Given the description of an element on the screen output the (x, y) to click on. 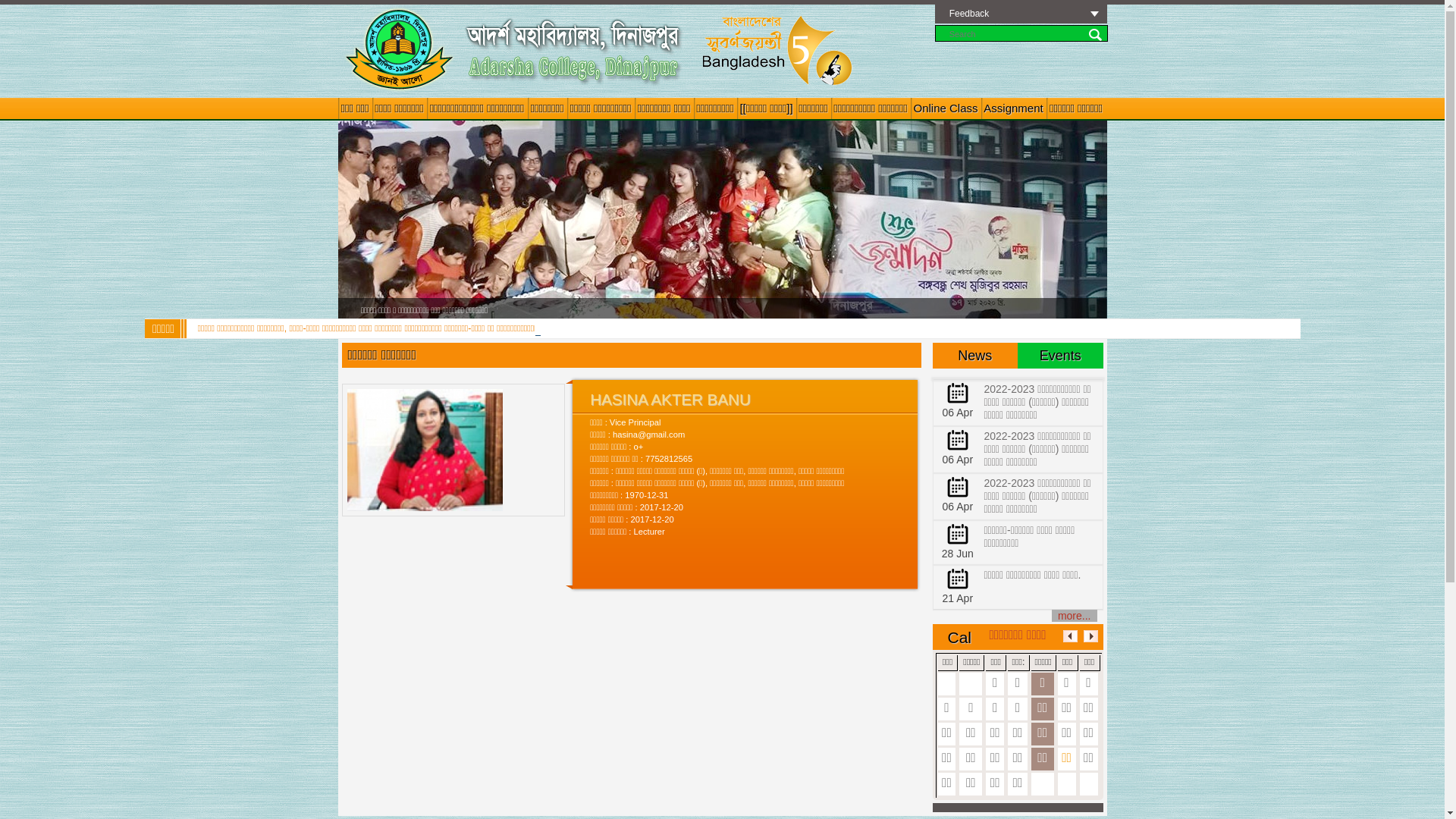
Assignment Element type: text (1013, 108)
HASINA AKTER BANU Element type: hover (424, 450)
more... Element type: text (1074, 615)
Online Class Element type: text (945, 108)
News Element type: text (975, 355)
Feedback Element type: text (1020, 13)
Events Element type: text (1060, 355)
